Given the description of an element on the screen output the (x, y) to click on. 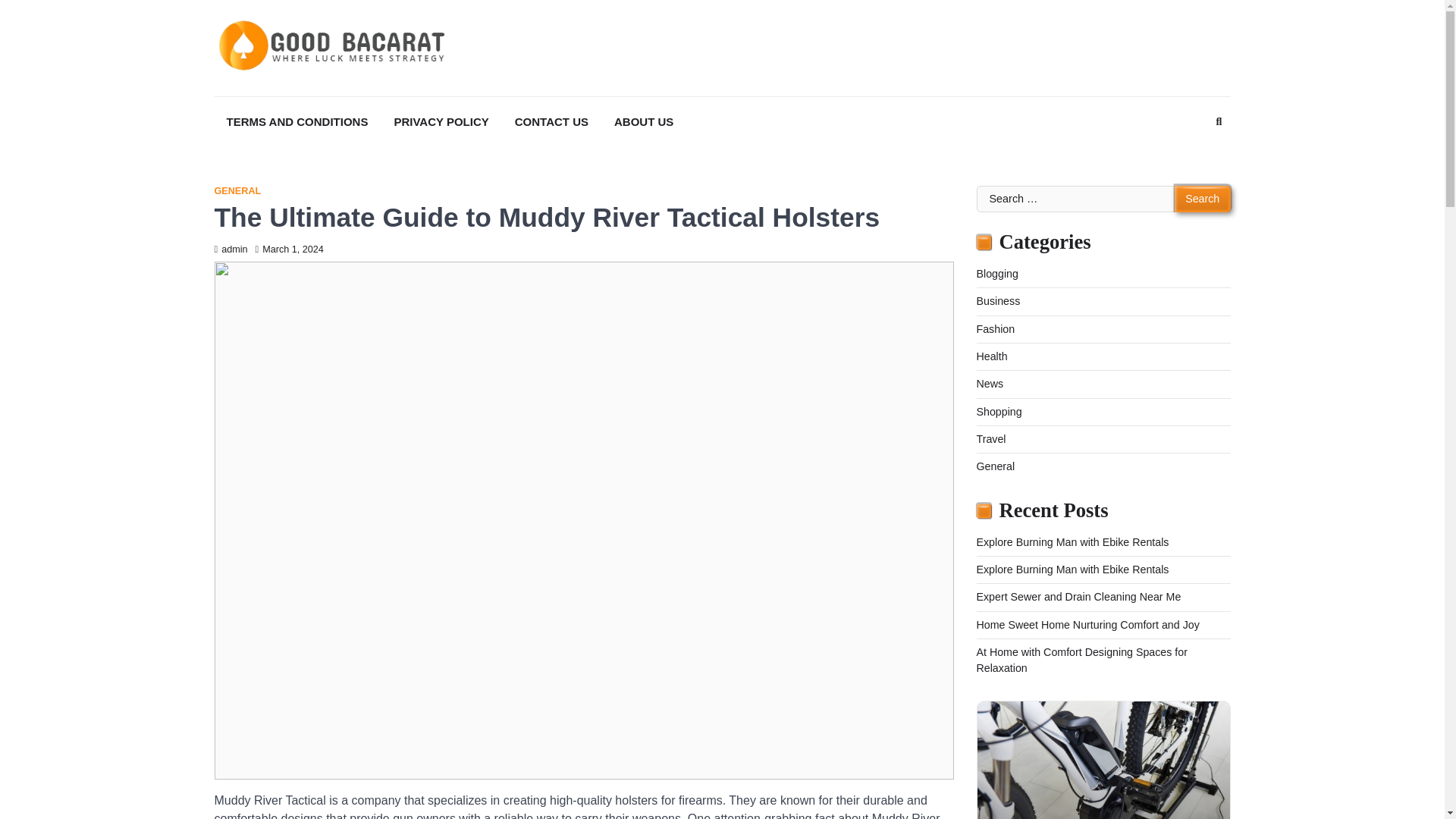
Fashion (995, 328)
Search (1202, 198)
Explore Burning Man with Ebike Rentals (1072, 569)
admin (230, 249)
ABOUT US (643, 122)
Explore Burning Man with Ebike Rentals (1072, 541)
Home Sweet Home Nurturing Comfort and Joy (1087, 624)
Search (1191, 158)
Business (998, 300)
Search (1202, 198)
Expert Sewer and Drain Cleaning Near Me (1078, 596)
Health (991, 356)
Shopping (999, 411)
Travel (991, 439)
TERMS AND CONDITIONS (297, 122)
